Given the description of an element on the screen output the (x, y) to click on. 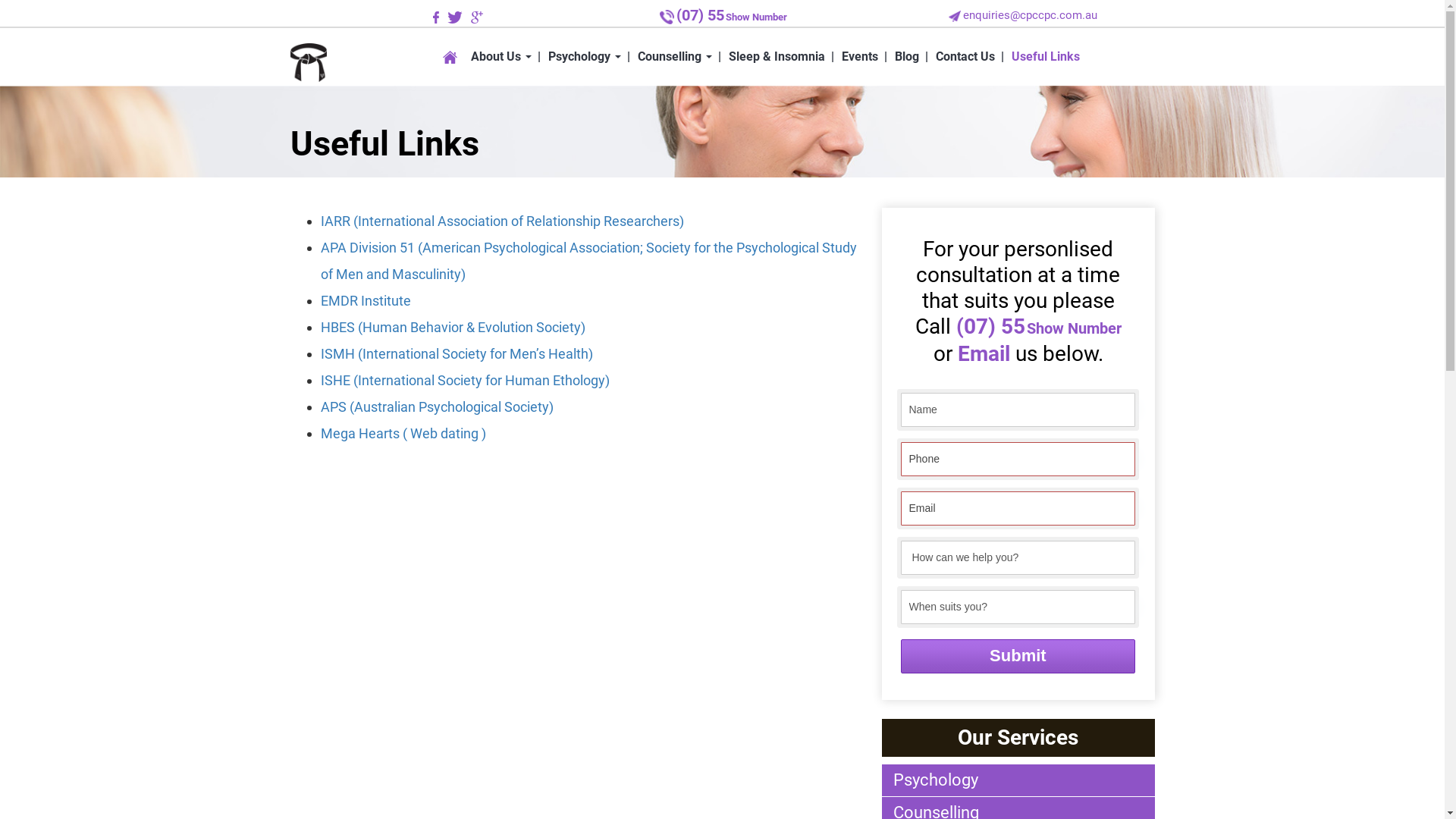
Useful Links Element type: text (1047, 56)
E-mail Now Element type: hover (954, 15)
Show Number Element type: text (755, 16)
(07) 55 Element type: text (989, 325)
Contact Us Element type: text (969, 56)
Call Now Element type: hover (666, 16)
IARR (International Association of Relationship Researchers) Element type: text (501, 221)
Sleep & Insomnia Element type: text (780, 56)
HBES (Human Behavior & Evolution Society) Element type: text (452, 327)
Psychology Element type: text (1017, 780)
Email Element type: text (985, 353)
Mega Hearts ( Web dating ) Element type: text (402, 433)
Blog Element type: text (910, 56)
About Us Element type: text (505, 56)
Submit Element type: text (1017, 656)
enquiries@cpccpc.com.au Element type: text (1030, 15)
Psychology Element type: text (588, 56)
(07) 55 Element type: text (700, 16)
Show Number Element type: text (1073, 328)
EMDR Institute Element type: text (365, 300)
Home Element type: text (452, 56)
ISHE (International Society for Human Ethology) Element type: text (464, 380)
APS (Australian Psychological Society) Element type: text (436, 406)
Events Element type: text (863, 56)
Counselling Element type: text (678, 56)
